Given the description of an element on the screen output the (x, y) to click on. 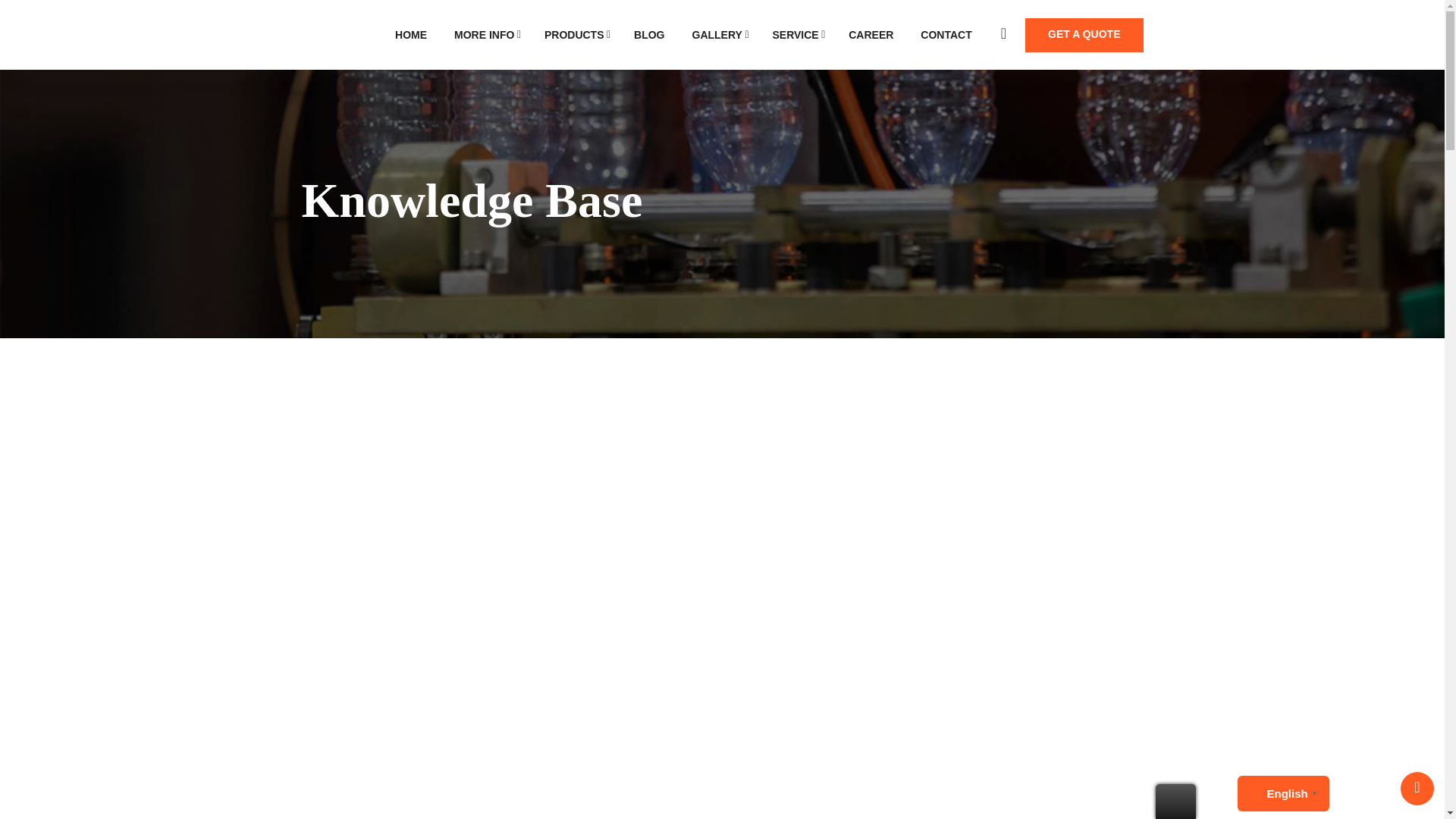
MORE INFO (485, 34)
